Given the description of an element on the screen output the (x, y) to click on. 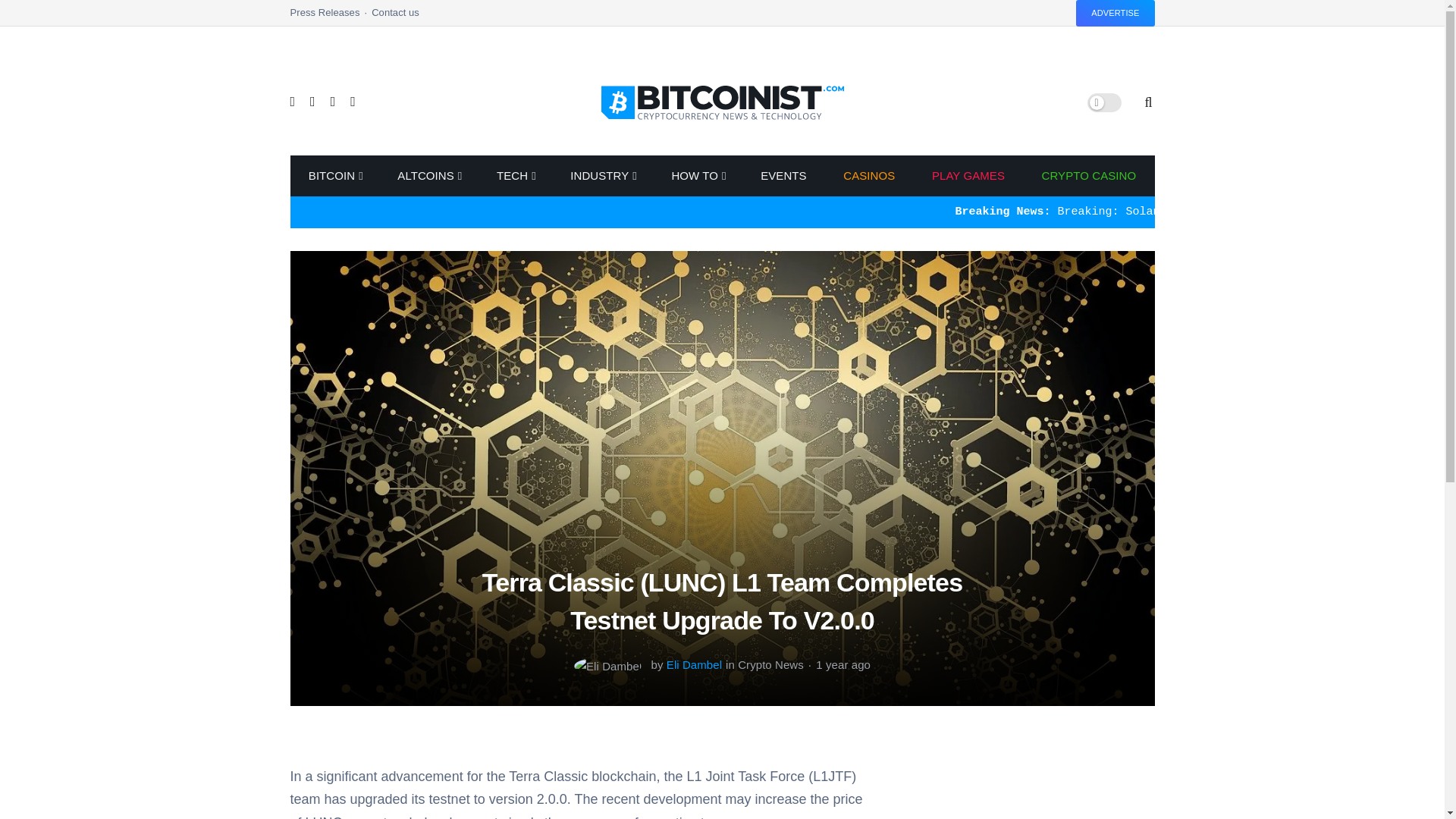
TECH (515, 175)
INDUSTRY (601, 175)
Contact us (395, 17)
ALTCOINS (428, 175)
ADVERTISE (1114, 13)
BITCOIN (333, 175)
HOW TO (697, 175)
Press Releases (330, 17)
